Given the description of an element on the screen output the (x, y) to click on. 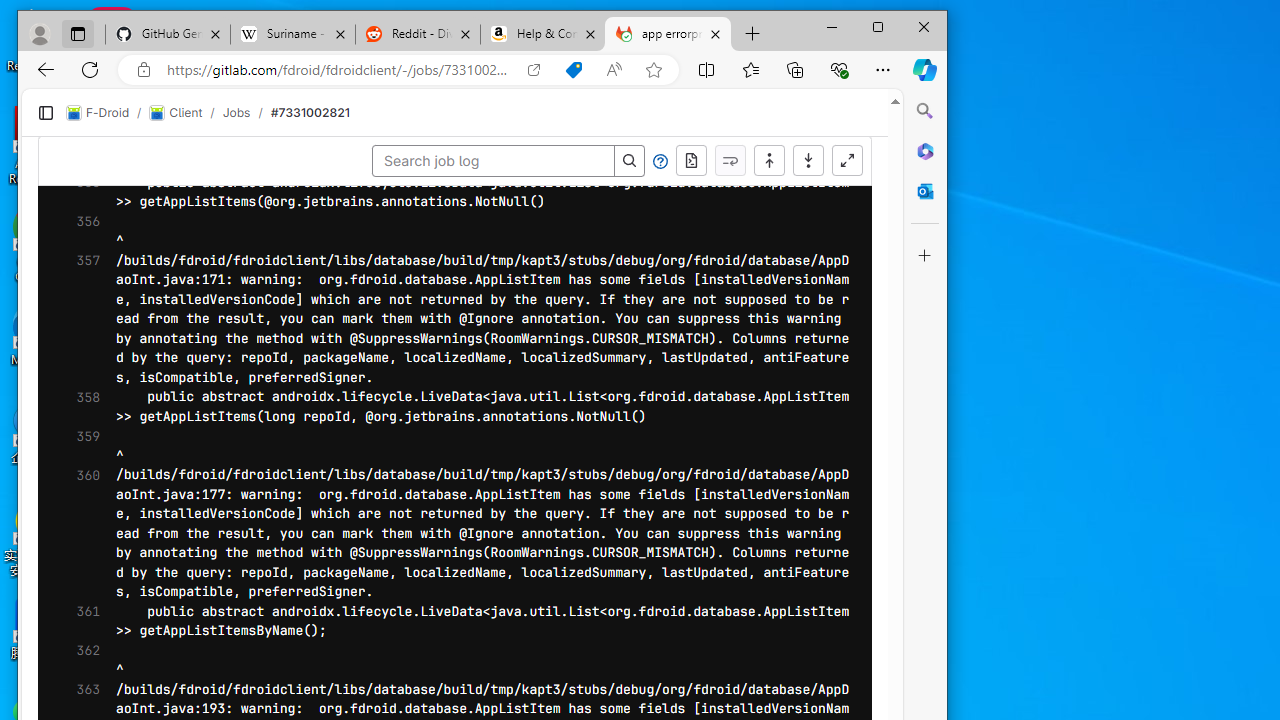
GitHub General Privacy Statement - GitHub Docs (168, 34)
Show full screen (847, 160)
354 (82, 105)
359 (82, 445)
361 (82, 621)
Scroll to top (768, 160)
362 (82, 660)
Jobs/ (246, 112)
#7331002821 (309, 112)
